Given the description of an element on the screen output the (x, y) to click on. 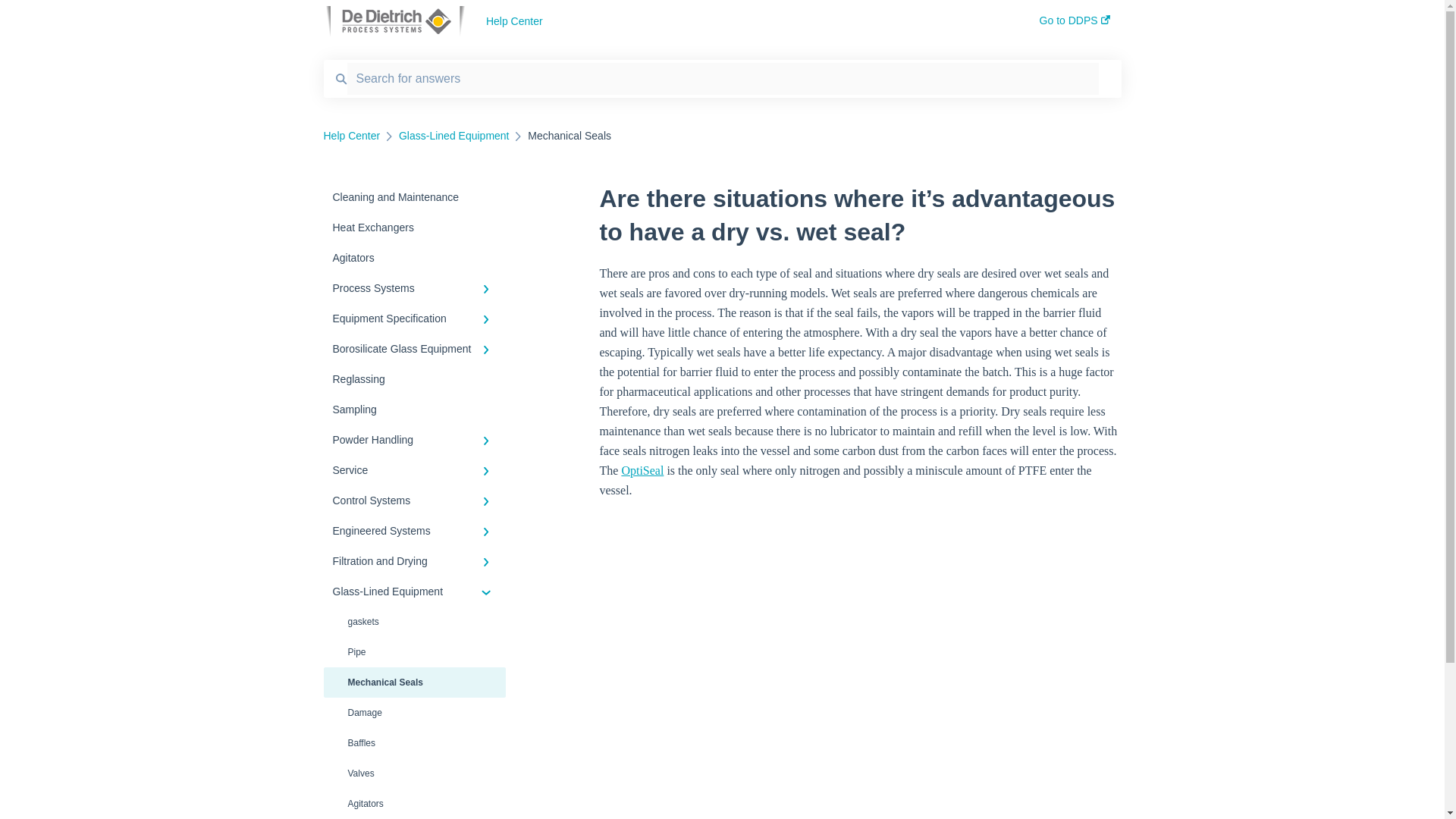
Help Center (740, 21)
Go to DDPS (1074, 25)
